Given the description of an element on the screen output the (x, y) to click on. 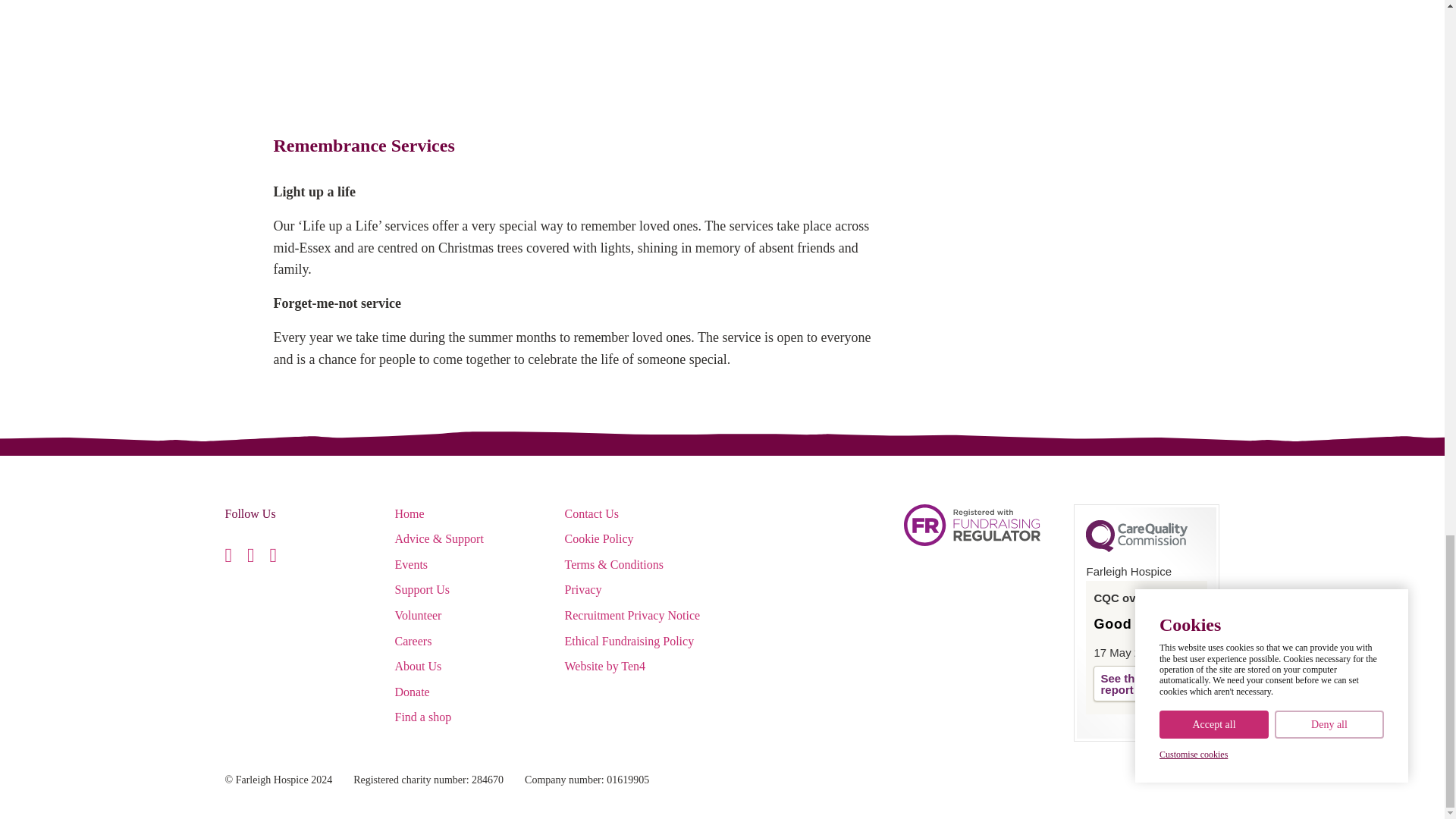
Recruitment Privacy Notice (632, 615)
Contact Us (591, 513)
Privacy (582, 589)
CQC Logo (1137, 548)
Cookie Policy (598, 538)
Home (408, 513)
About Us (417, 666)
Events (411, 563)
Find a shop (422, 716)
Volunteer (417, 615)
